Given the description of an element on the screen output the (x, y) to click on. 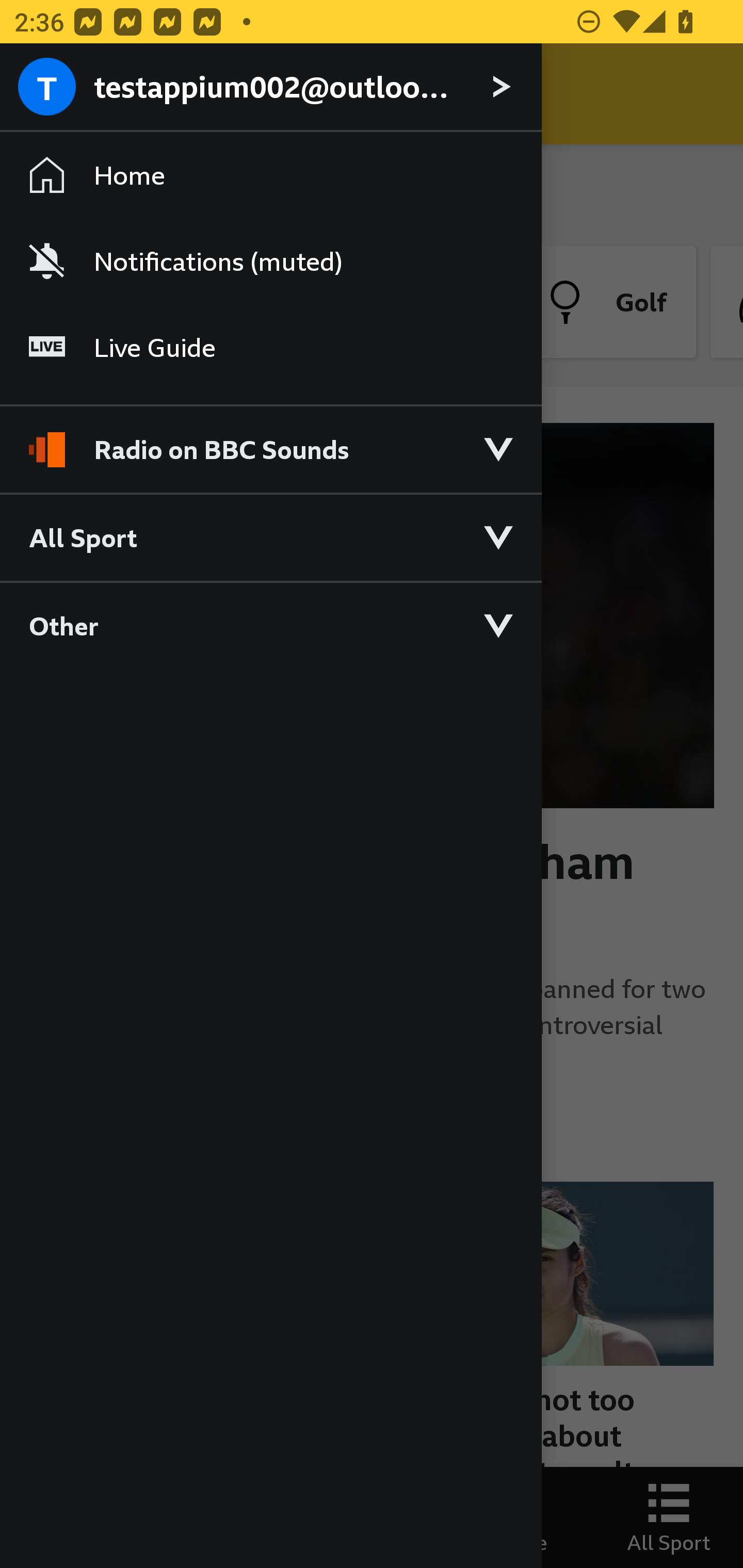
Close Menu (50, 93)
testappium002@outlook.com (270, 87)
Home (270, 174)
Notifications (muted) (270, 260)
Live Guide (270, 347)
Radio on BBC Sounds (270, 441)
All Sport (270, 536)
Other (270, 624)
